Given the description of an element on the screen output the (x, y) to click on. 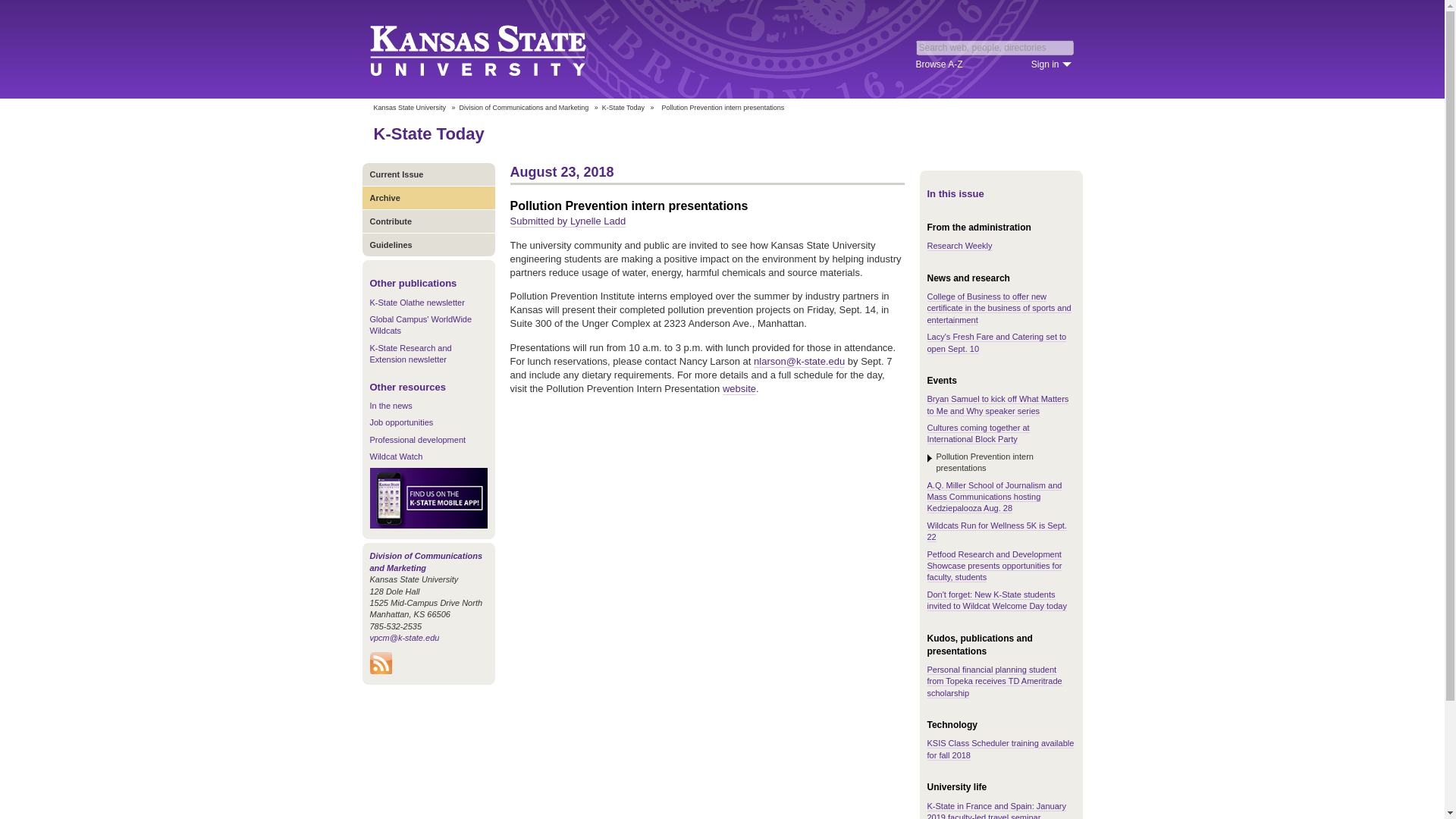
Lacy's Fresh Fare and Catering set to open Sept. 10 (995, 342)
Job opportunities (401, 421)
Division of Communications and Marketing (524, 107)
Division of Communications and Marketing (426, 561)
Search web, people, directories (994, 47)
website (738, 388)
Research Weekly (958, 245)
Submitted by Lynelle Ladd (567, 221)
